Given the description of an element on the screen output the (x, y) to click on. 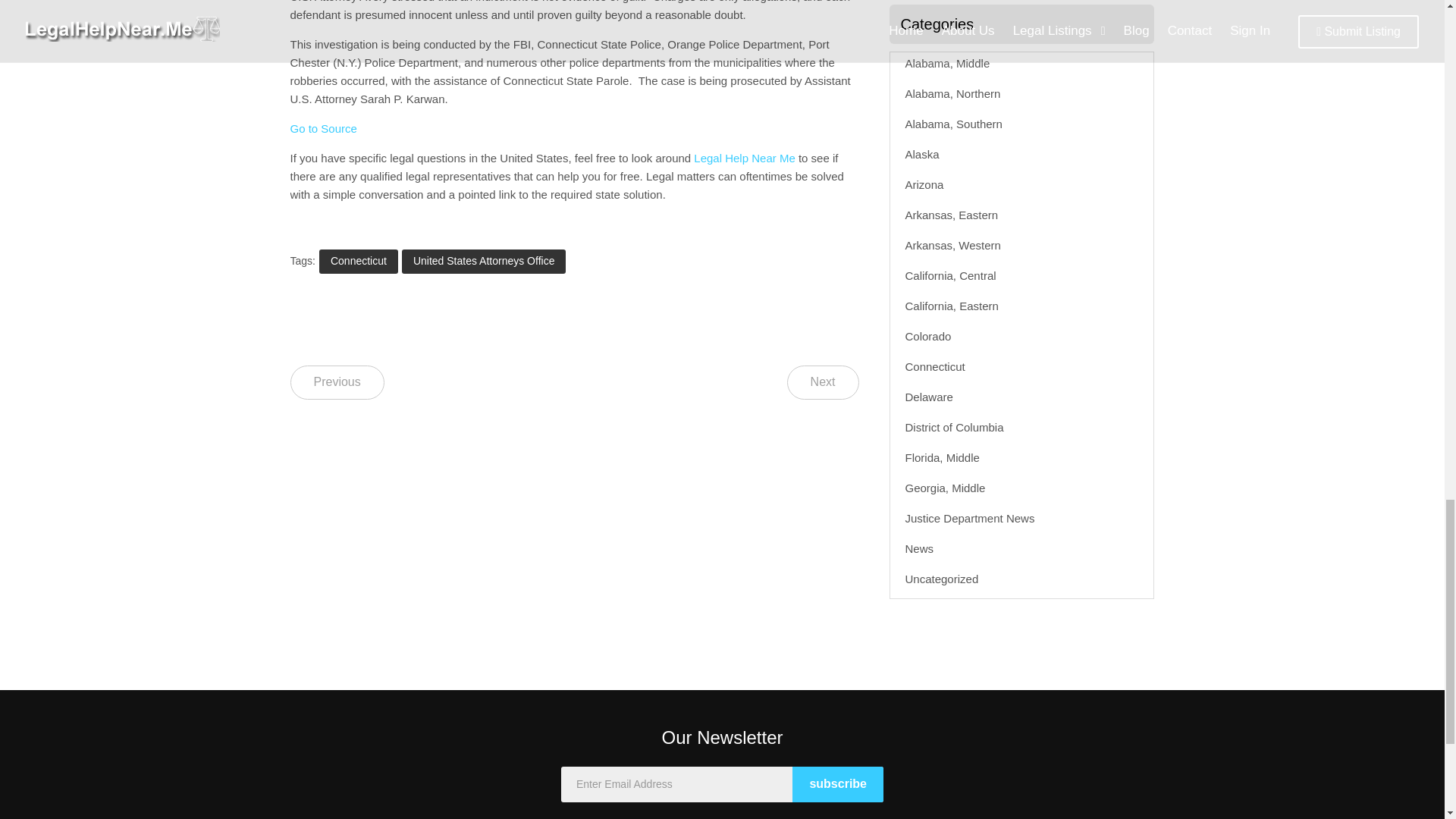
Legal Help Near Me (744, 157)
Previous (336, 382)
United States Attorneys Office (483, 261)
Next (823, 382)
Connecticut (357, 261)
subscribe (837, 784)
Go to Source (322, 128)
